Given the description of an element on the screen output the (x, y) to click on. 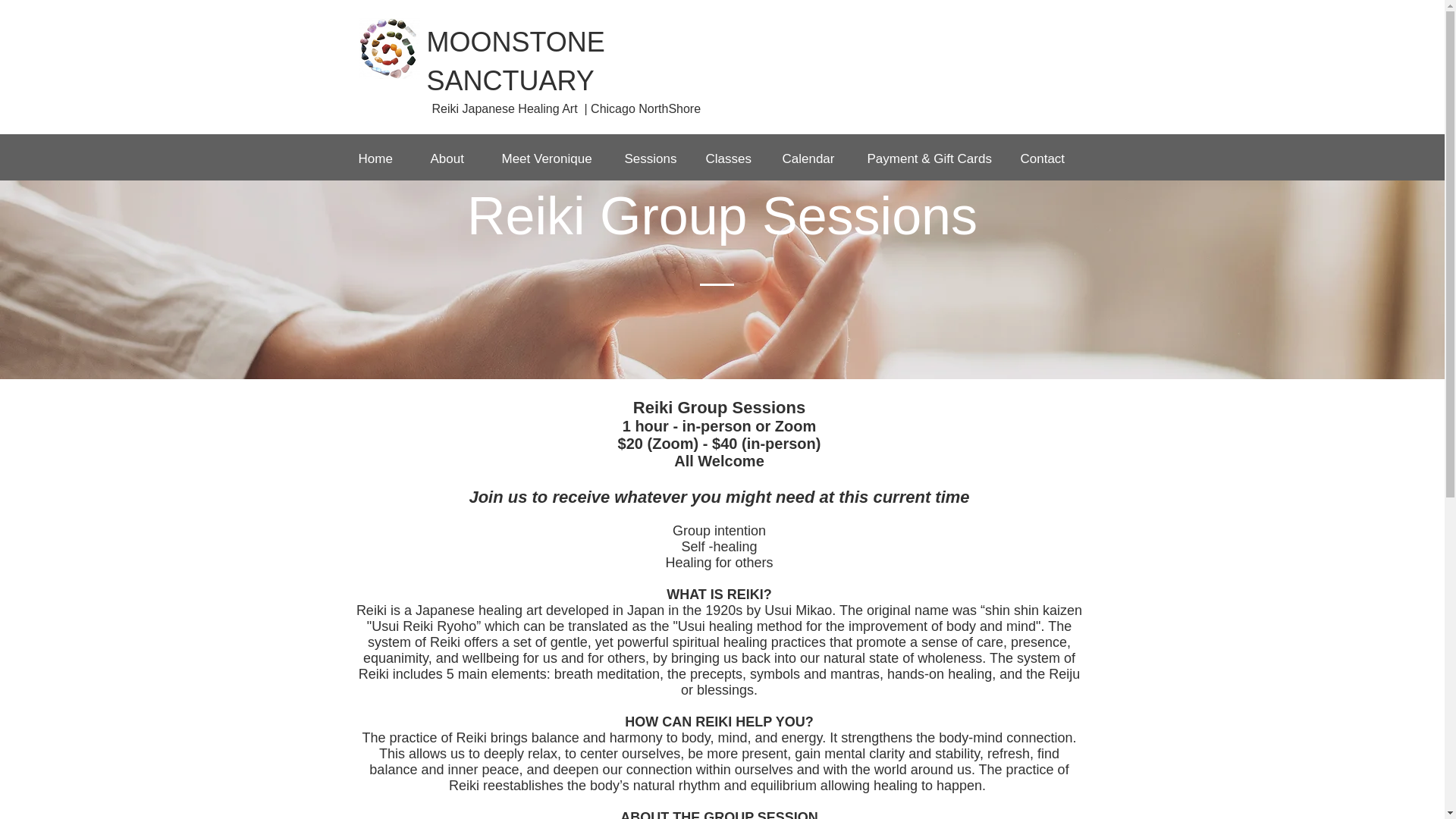
Log In (1008, 64)
Calendar (817, 159)
Contact (1053, 159)
Meet Veronique (556, 159)
Sessions (657, 159)
About (459, 159)
Home (386, 159)
Classes (735, 159)
